Given the description of an element on the screen output the (x, y) to click on. 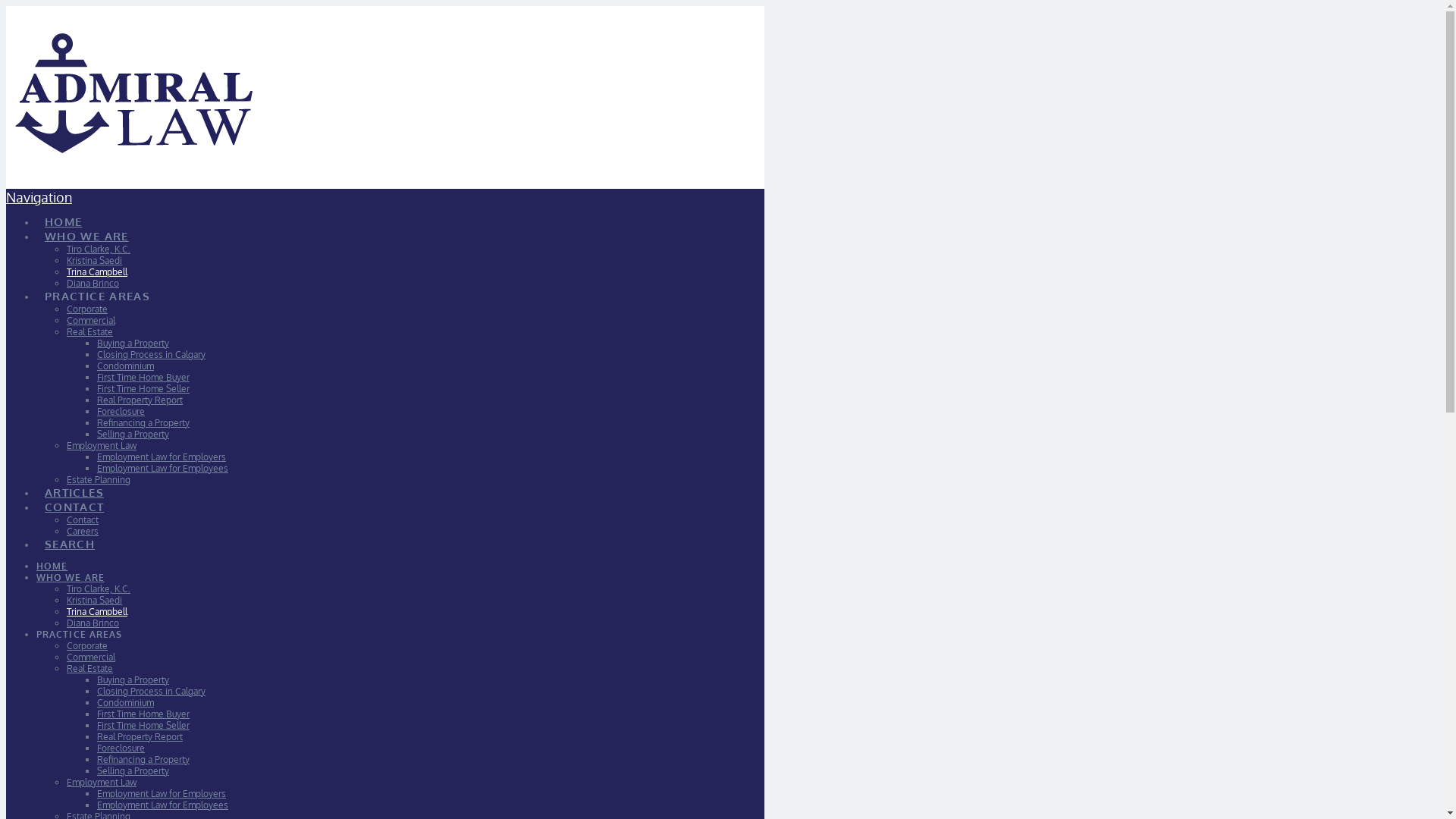
First Time Home Buyer Element type: text (143, 376)
Careers Element type: text (82, 530)
First Time Home Buyer Element type: text (143, 713)
Insert Tagline Element type: hover (132, 134)
Diana Brinco Element type: text (92, 282)
Corporate Element type: text (86, 645)
Employment Law for Employers Element type: text (161, 793)
Employment Law Element type: text (101, 781)
SEARCH Element type: text (69, 535)
Selling a Property Element type: text (133, 770)
Real Property Report Element type: text (139, 736)
Contact Element type: text (82, 519)
Trina Campbell Element type: text (96, 611)
Employment Law for Employers Element type: text (161, 456)
WHO WE ARE Element type: text (70, 577)
Condominium Element type: text (125, 365)
Diana Brinco Element type: text (92, 622)
Corporate Element type: text (86, 308)
Refinancing a Property Element type: text (143, 422)
PRACTICE AREAS Element type: text (96, 288)
Real Property Report Element type: text (139, 399)
WHO WE ARE Element type: text (85, 228)
CONTACT Element type: text (73, 498)
Foreclosure Element type: text (120, 747)
Buying a Property Element type: text (133, 679)
HOME Element type: text (51, 565)
Kristina Saedi Element type: text (94, 599)
Tiro Clarke, K.C. Element type: text (98, 248)
Condominium Element type: text (125, 702)
Real Estate Element type: text (89, 331)
Tiro Clarke, K.C. Element type: text (98, 588)
First Time Home Seller Element type: text (143, 725)
ARTICLES Element type: text (73, 484)
Closing Process in Calgary Element type: text (151, 354)
Employment Law for Employees Element type: text (162, 804)
Foreclosure Element type: text (120, 411)
Kristina Saedi Element type: text (94, 260)
Buying a Property Element type: text (133, 342)
Closing Process in Calgary Element type: text (151, 690)
PRACTICE AREAS Element type: text (79, 634)
Refinancing a Property Element type: text (143, 759)
Estate Planning Element type: text (98, 479)
First Time Home Seller Element type: text (143, 388)
Trina Campbell Element type: text (96, 271)
HOME Element type: text (62, 213)
Employment Law for Employees Element type: text (162, 467)
Real Estate Element type: text (89, 668)
Commercial Element type: text (90, 656)
Navigation Element type: text (39, 196)
Selling a Property Element type: text (133, 433)
Employment Law Element type: text (101, 445)
Commercial Element type: text (90, 320)
